Given the description of an element on the screen output the (x, y) to click on. 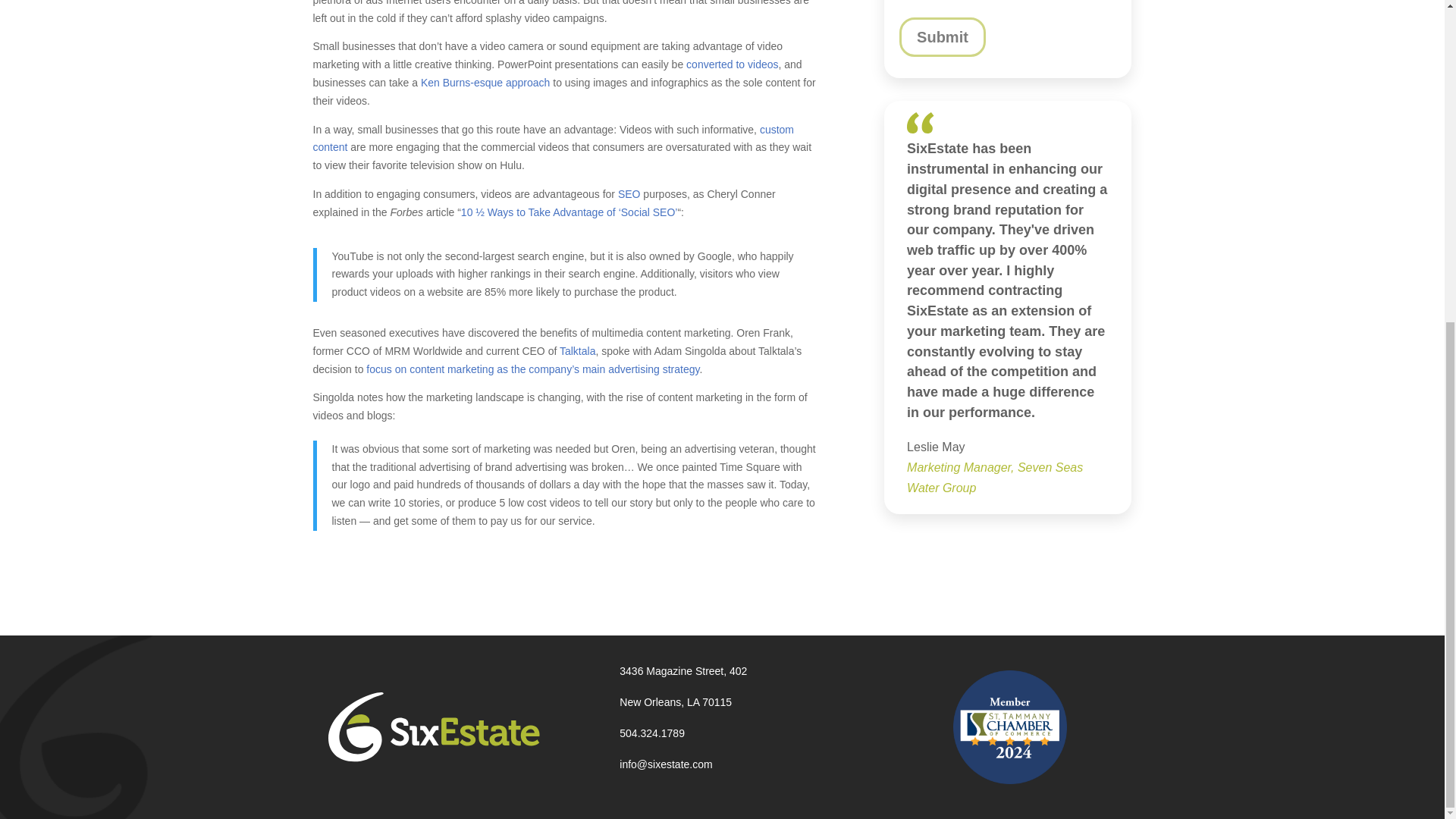
Ken Burns-esque approach (485, 82)
custom content (553, 138)
Submit (942, 36)
Content Marketing: The New SEO? (628, 193)
Talktala (577, 350)
504.324.1789 (652, 733)
SEO (628, 193)
A Ken Burns Solution to a Small Video Problem (485, 82)
converted to videos (731, 64)
Submit (942, 36)
